Given the description of an element on the screen output the (x, y) to click on. 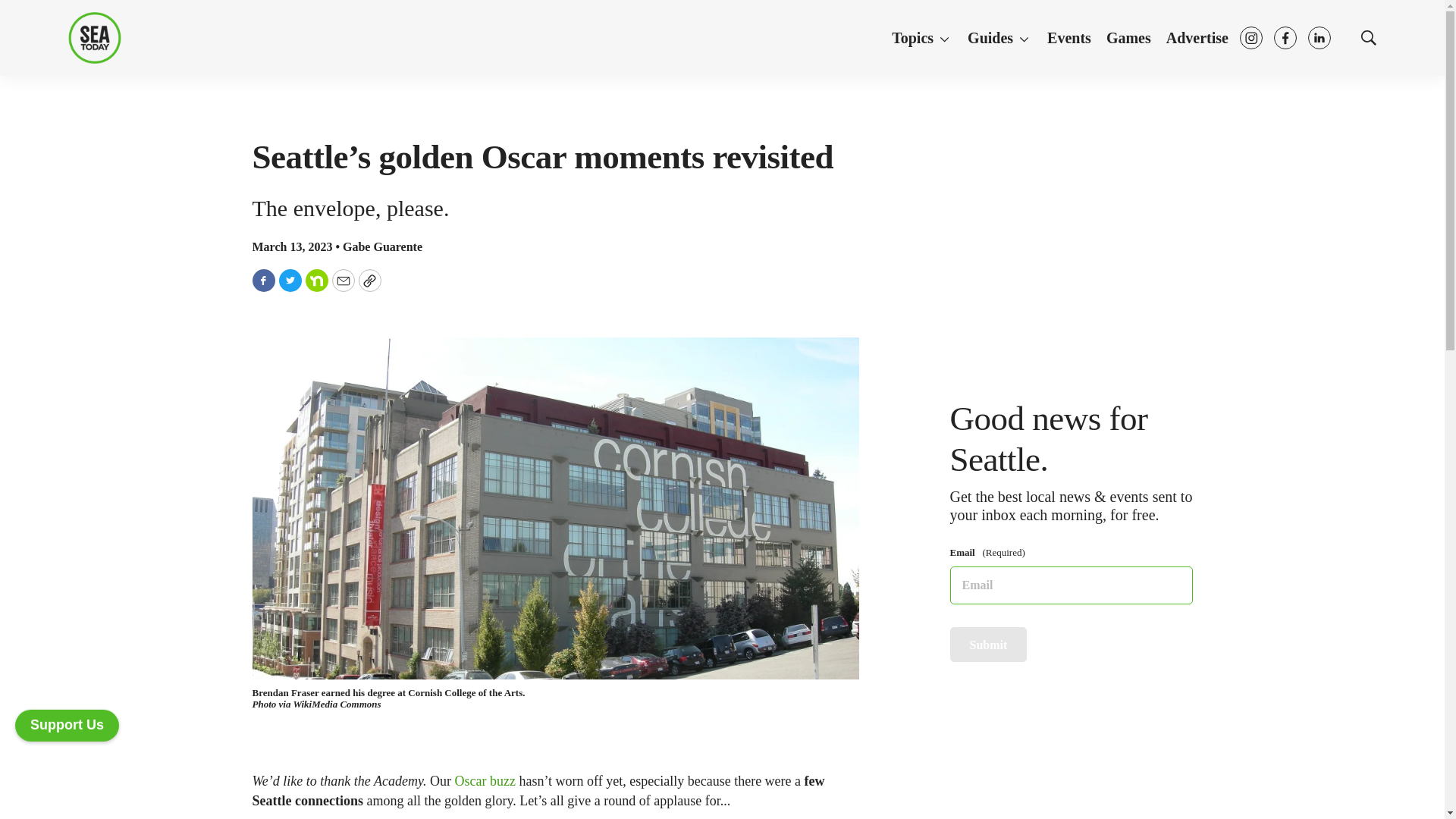
Guides (1000, 39)
Add (66, 723)
